Given the description of an element on the screen output the (x, y) to click on. 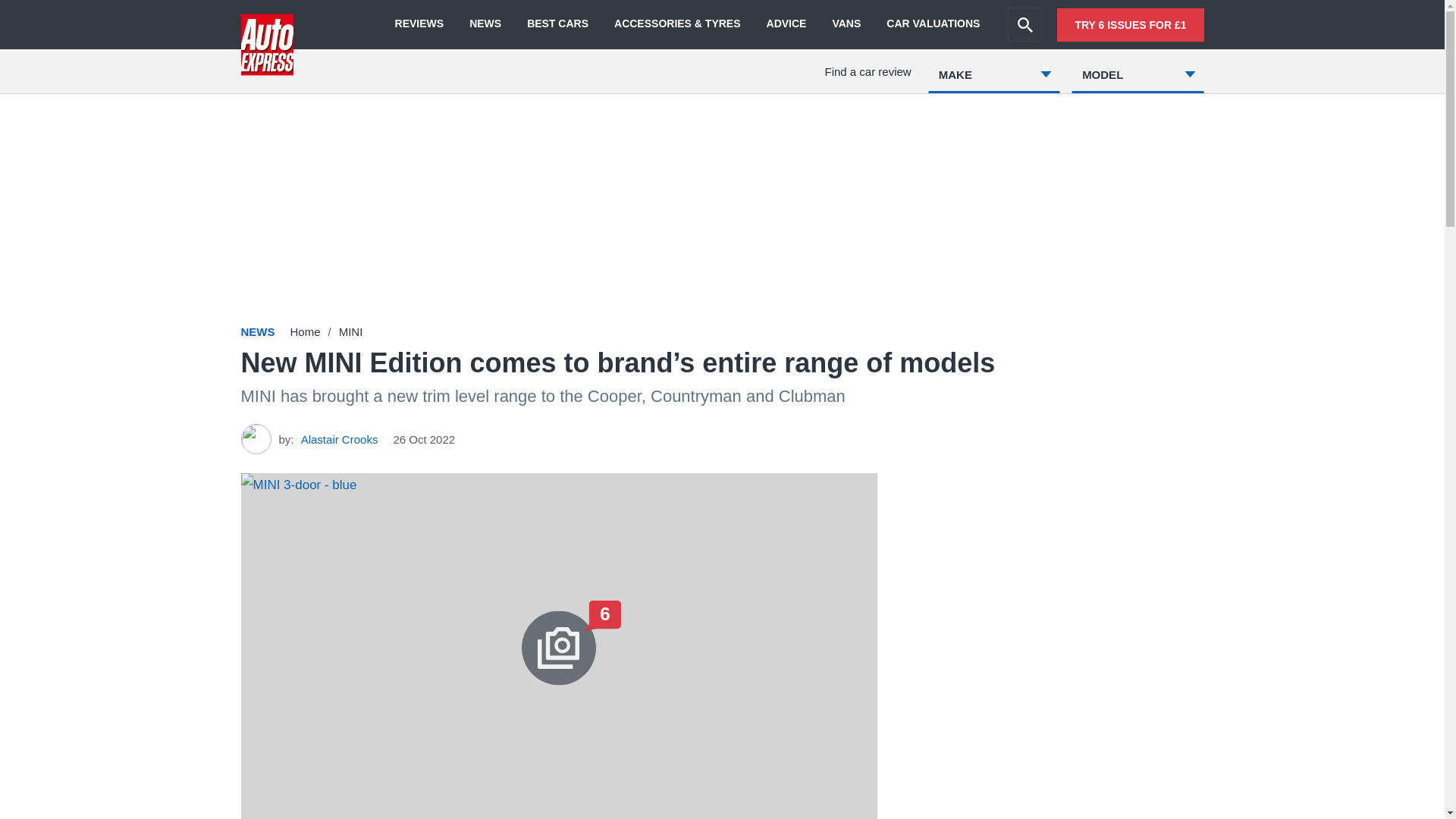
NEWS (485, 24)
VANS (845, 24)
Search (1024, 24)
REVIEWS (419, 24)
Search (1024, 24)
CAR VALUATIONS (932, 24)
ADVICE (786, 24)
BEST CARS (557, 24)
